Given the description of an element on the screen output the (x, y) to click on. 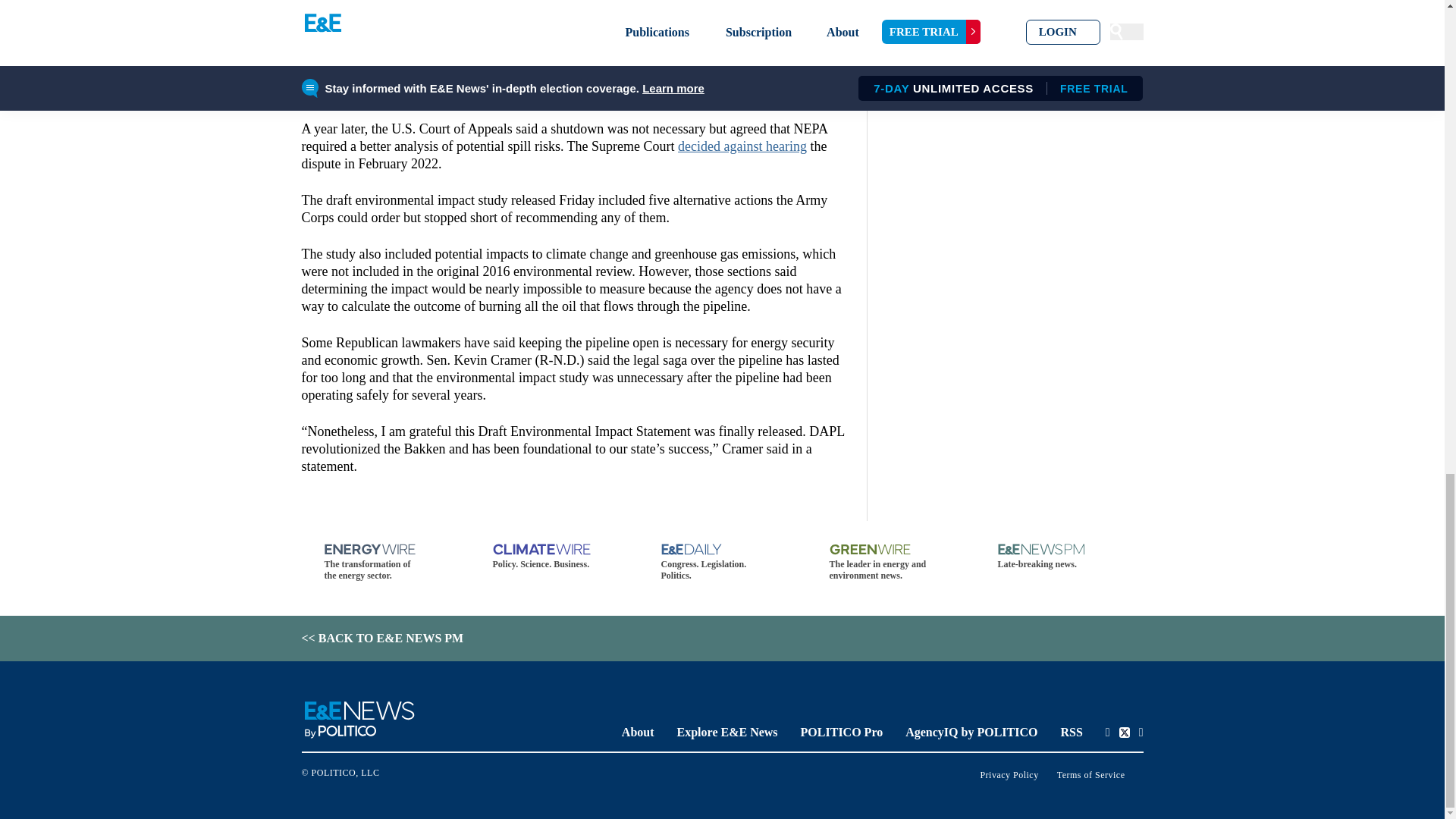
The leader in energy and environment news. (890, 562)
The transformation of the energy sector. (385, 562)
Congress. Legislation. Politics. (722, 562)
POLITICO Pro (841, 731)
AgencyIQ by POLITICO (970, 731)
About (637, 731)
Late-breaking news. (1058, 556)
decided against hearing (742, 145)
Policy. Science. Business. (554, 556)
